Given the description of an element on the screen output the (x, y) to click on. 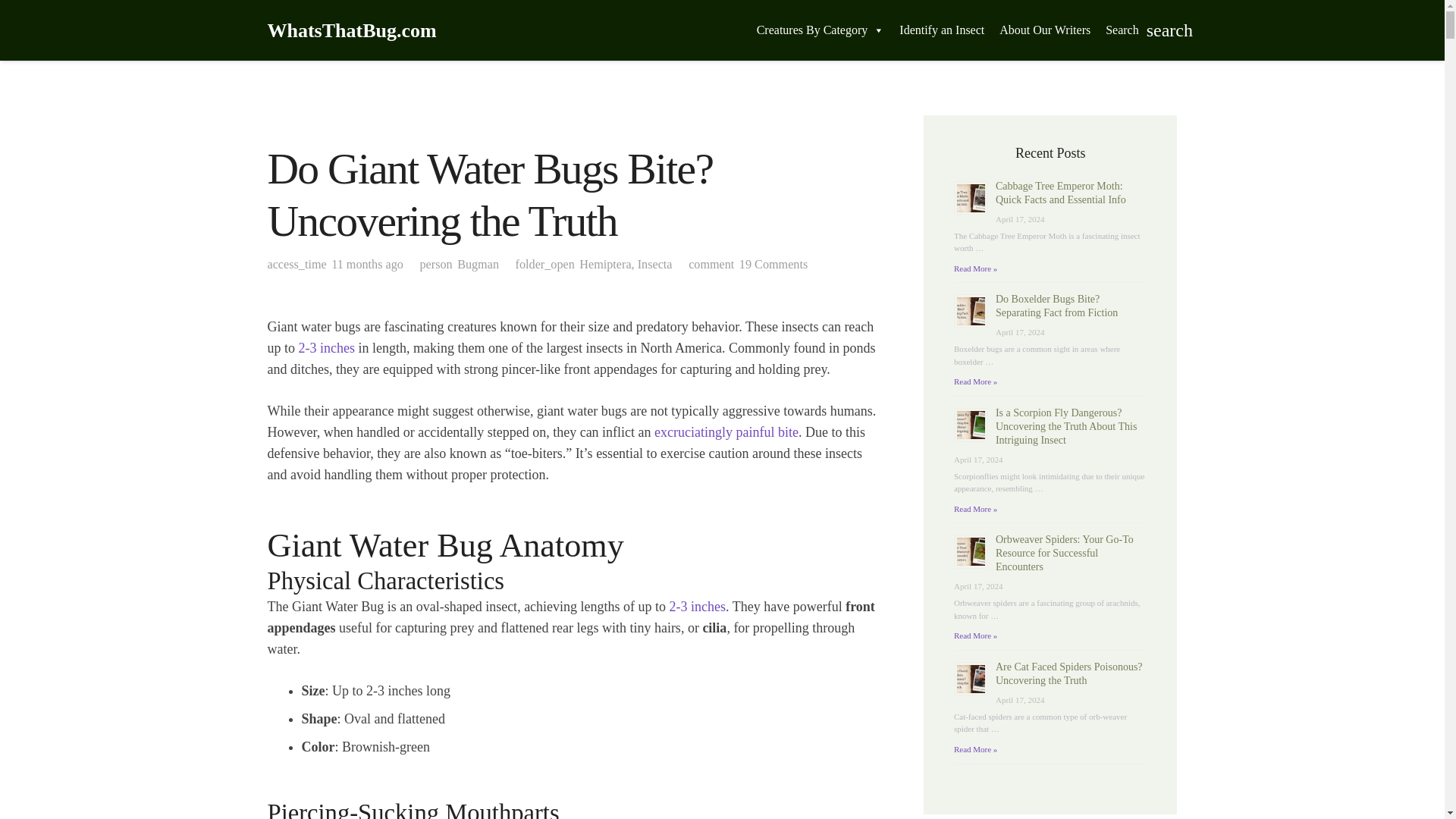
19 Comments (773, 264)
WhatsThatBug.com (350, 30)
Creatures By Category (820, 30)
